Given the description of an element on the screen output the (x, y) to click on. 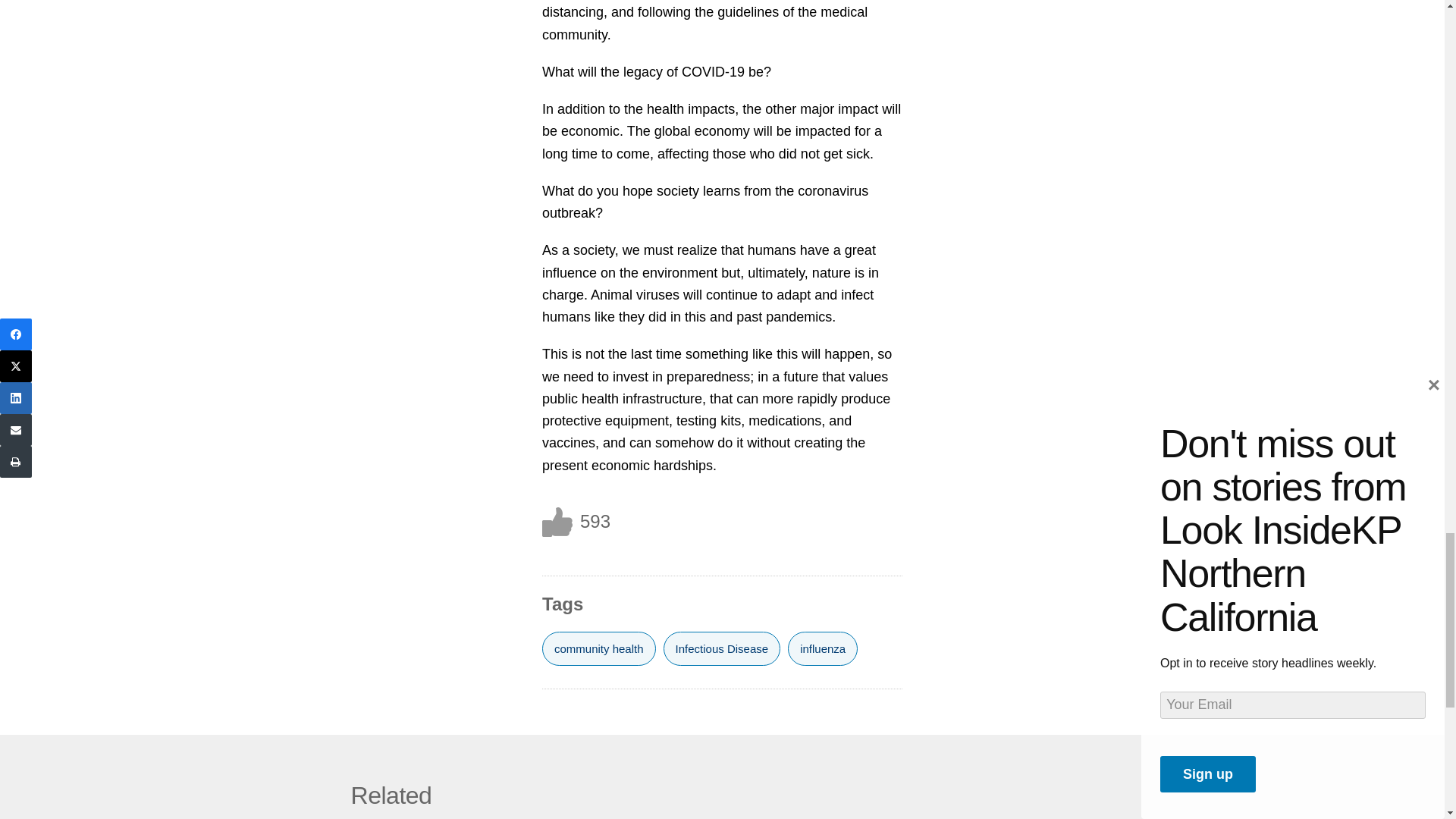
Like (556, 521)
influenza (822, 648)
Infectious Disease (721, 648)
community health (598, 648)
